Given the description of an element on the screen output the (x, y) to click on. 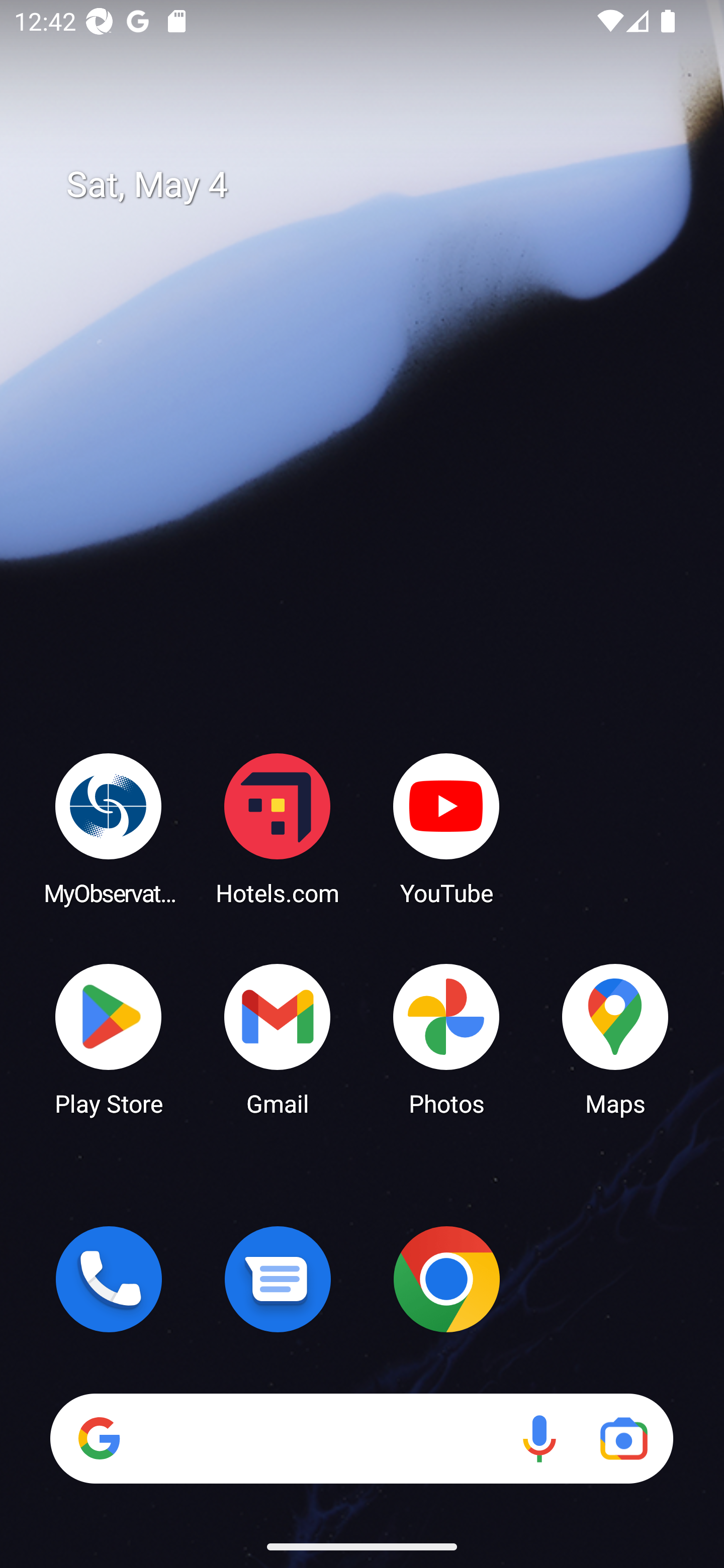
Sat, May 4 (375, 184)
MyObservatory (108, 828)
Hotels.com (277, 828)
YouTube (445, 828)
Play Store (108, 1038)
Gmail (277, 1038)
Photos (445, 1038)
Maps (615, 1038)
Phone (108, 1279)
Messages (277, 1279)
Chrome (446, 1279)
Search Voice search Google Lens (361, 1438)
Voice search (539, 1438)
Google Lens (623, 1438)
